Given the description of an element on the screen output the (x, y) to click on. 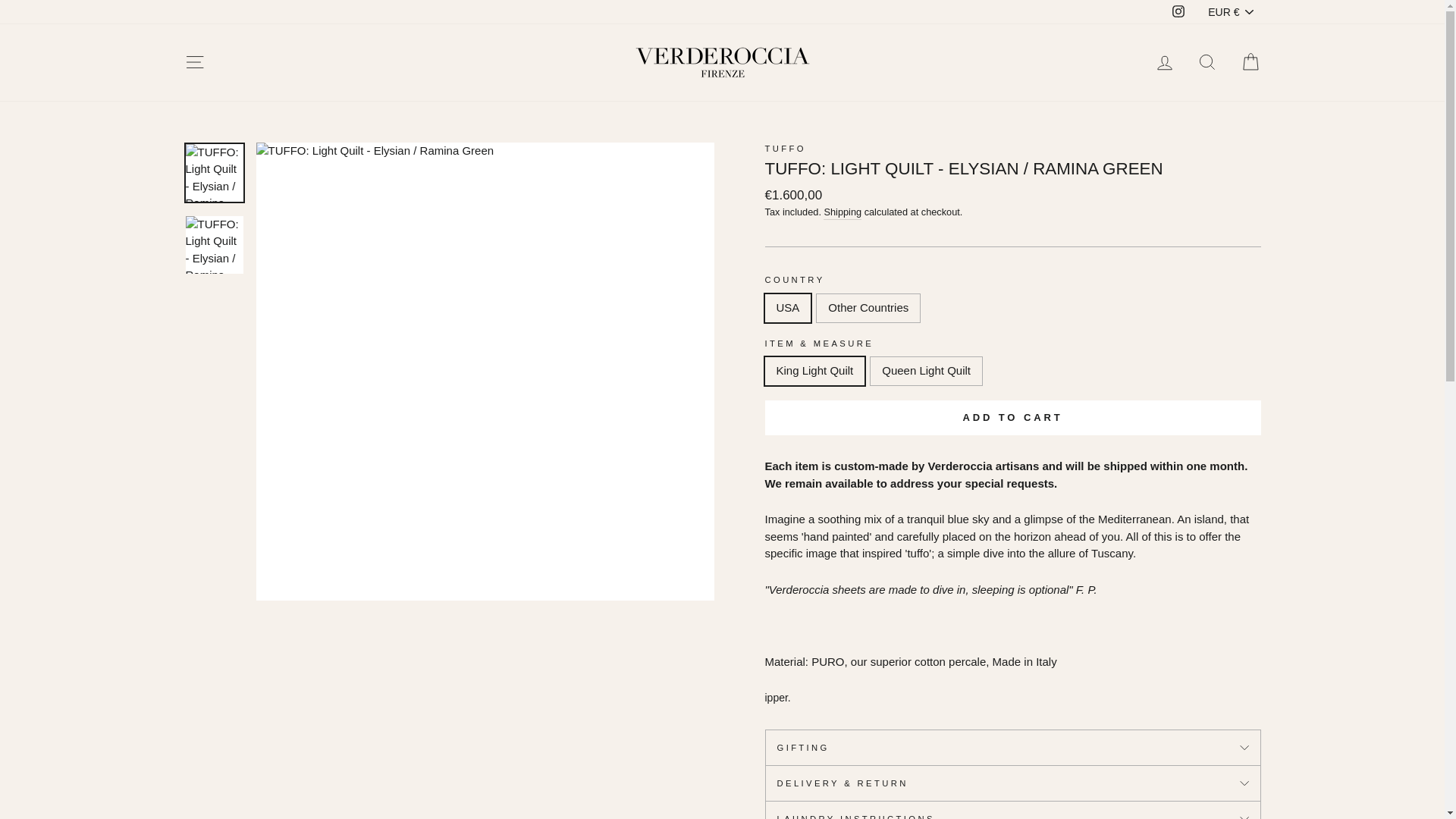
VERDEROCCIA FIRENZE on Instagram (1178, 11)
